Given the description of an element on the screen output the (x, y) to click on. 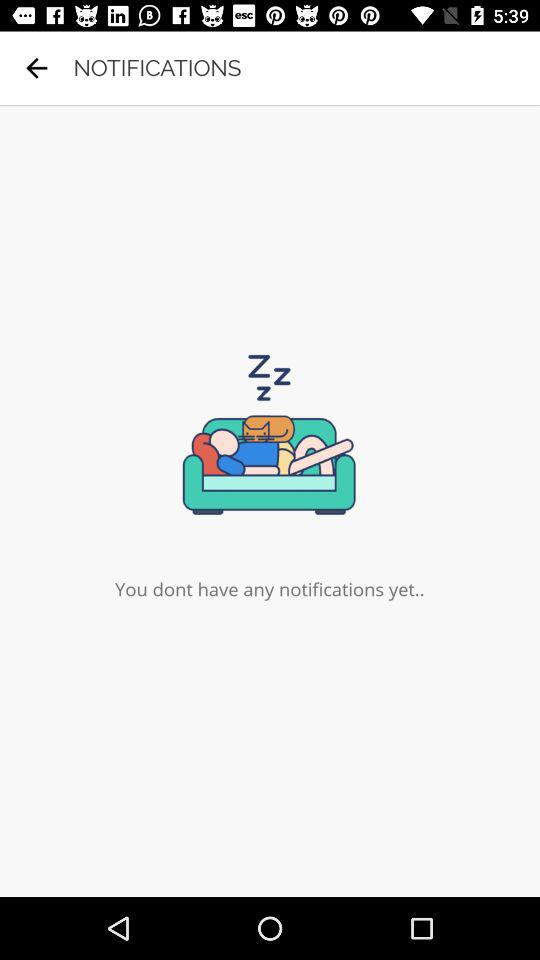
click icon to the left of notifications (36, 68)
